Given the description of an element on the screen output the (x, y) to click on. 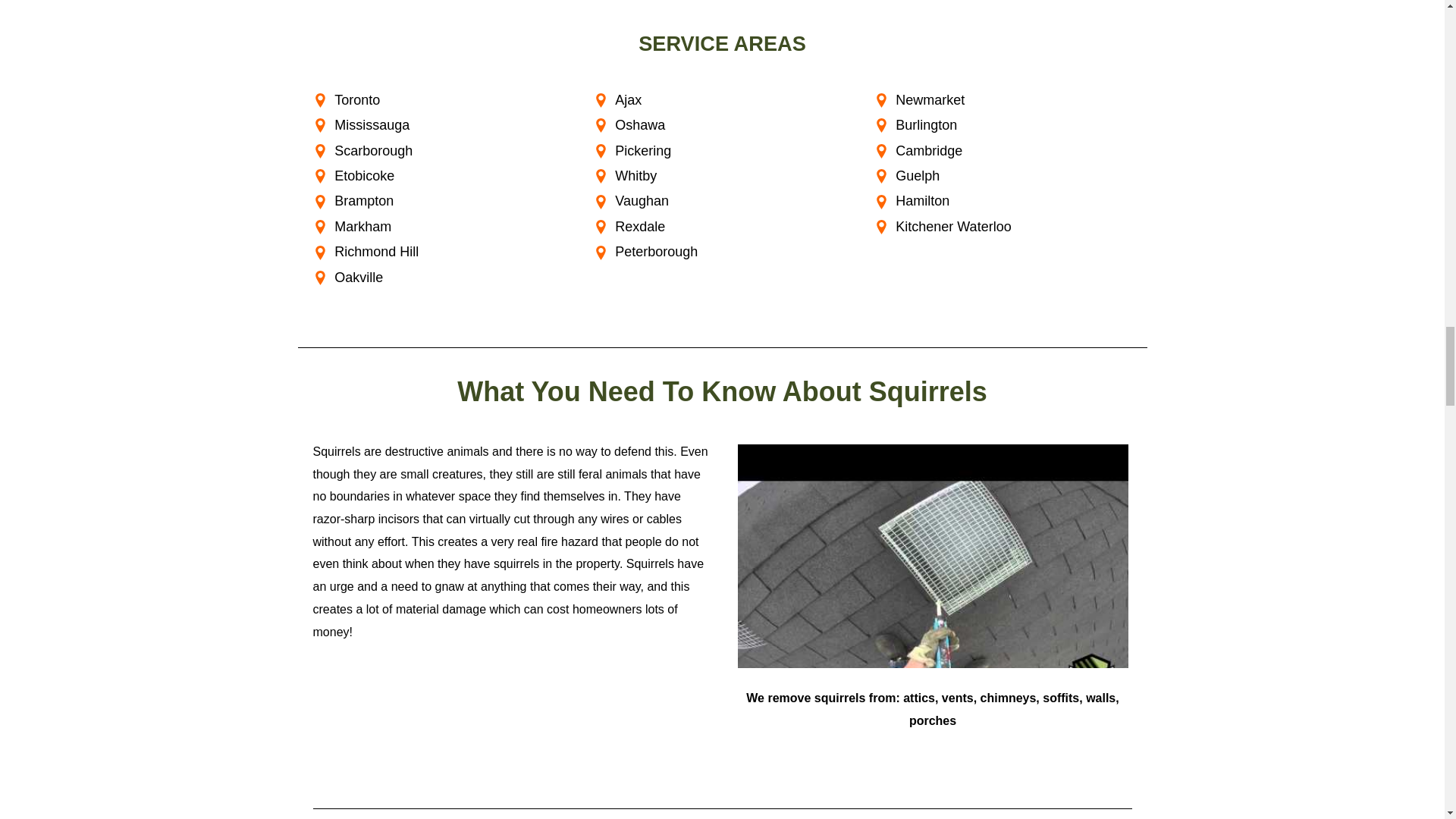
Toronto (441, 100)
Mississauga (441, 125)
Etobicoke (441, 176)
Scarborough (441, 150)
Brampton (441, 201)
